Given the description of an element on the screen output the (x, y) to click on. 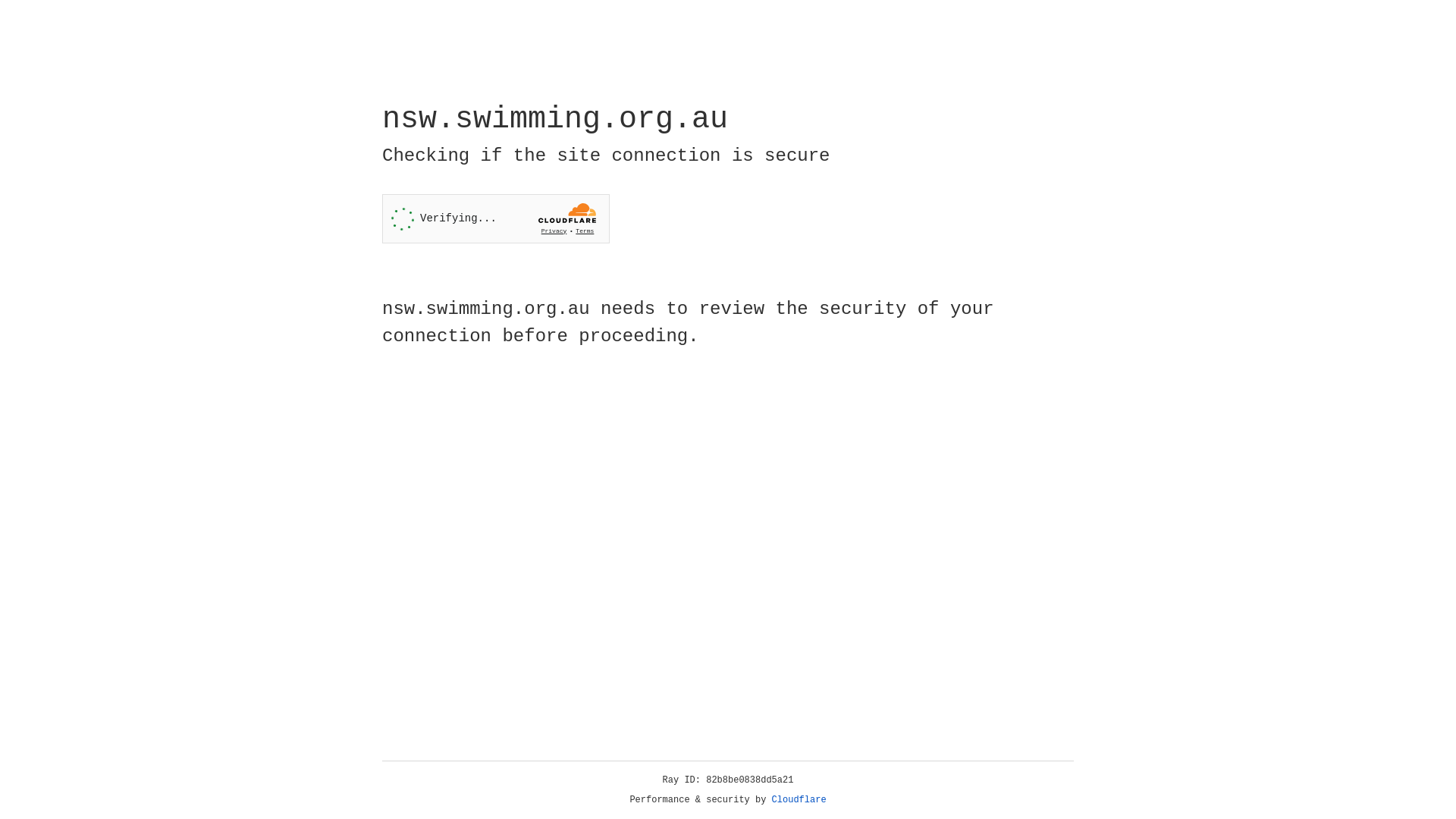
Cloudflare Element type: text (798, 799)
Widget containing a Cloudflare security challenge Element type: hover (495, 218)
